Given the description of an element on the screen output the (x, y) to click on. 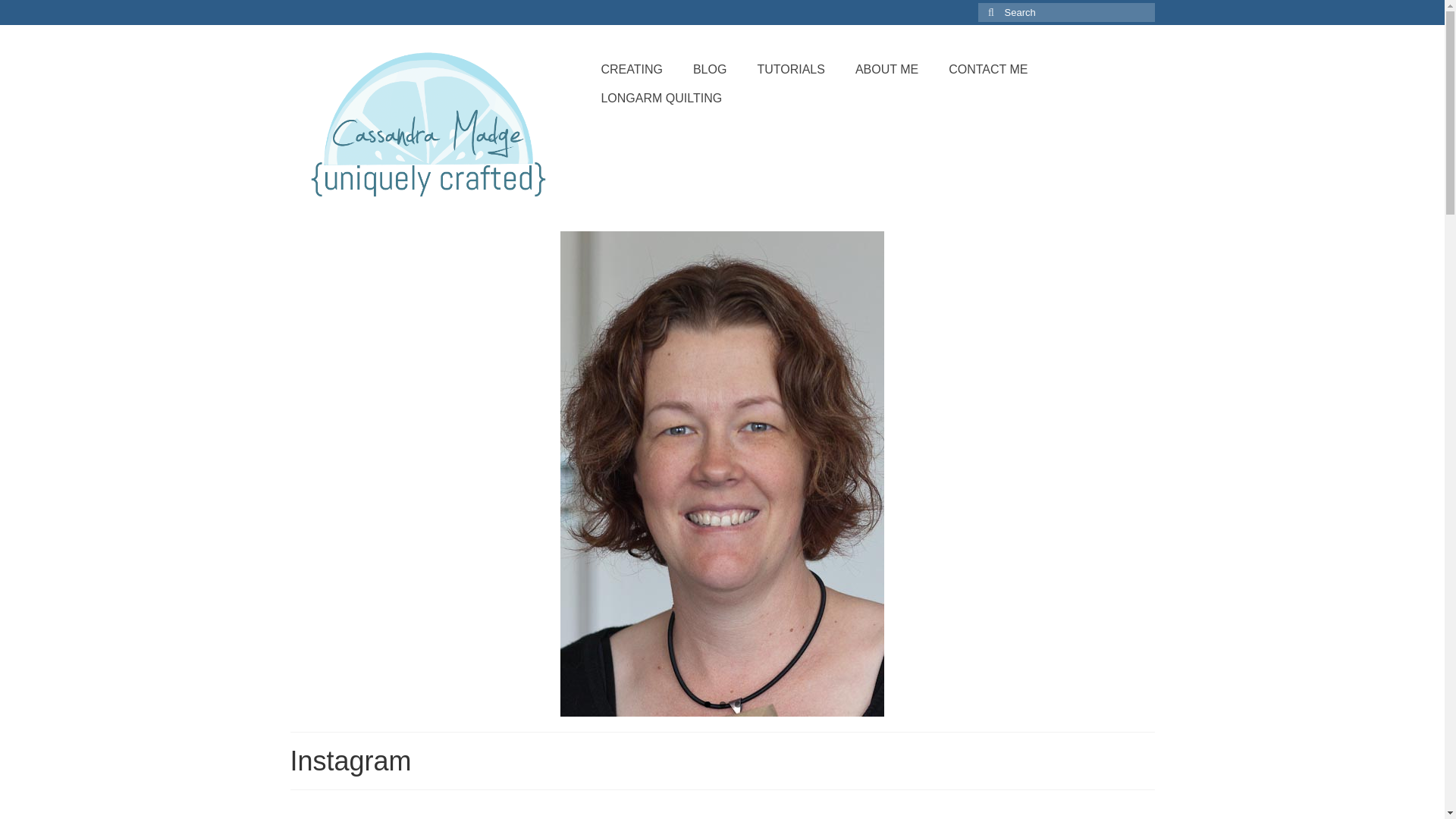
CONTACT ME (987, 69)
TUTORIALS (790, 69)
CREATING (631, 69)
BLOG (709, 69)
ABOUT ME (886, 69)
LONGARM QUILTING (660, 98)
1 (706, 704)
3 (736, 704)
2 (722, 704)
